Given the description of an element on the screen output the (x, y) to click on. 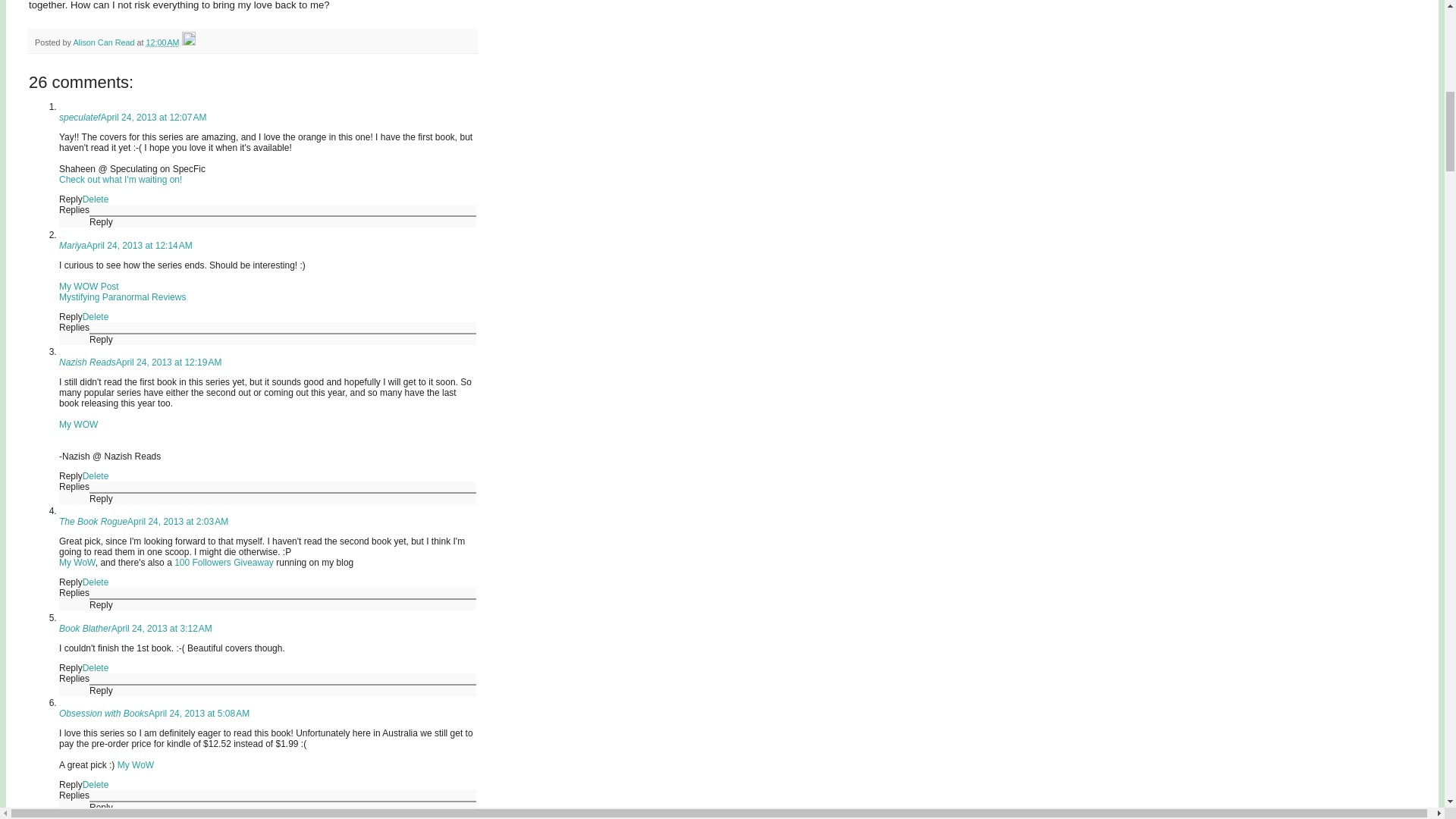
Check out what I'm waiting on! (120, 179)
Nazish Reads (78, 424)
Replies (73, 209)
Reply (100, 222)
Delete (95, 317)
Reply (70, 317)
My WOW (78, 424)
Mariya (72, 245)
Alison Can Read (104, 41)
permanent link (162, 41)
Nazish Reads (87, 362)
Replies (73, 486)
Delete (95, 199)
